Given the description of an element on the screen output the (x, y) to click on. 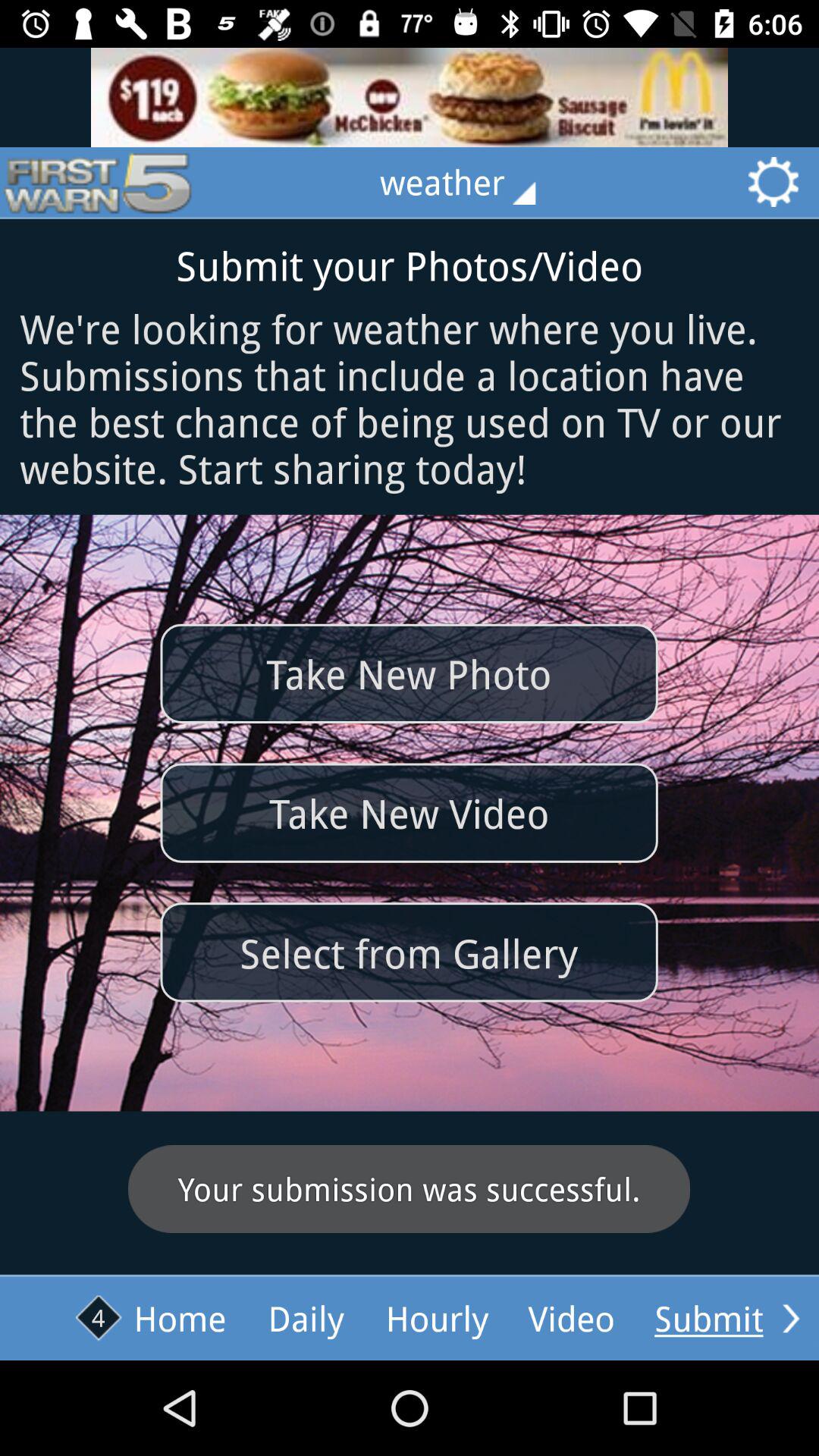
submit yours photos/video (791, 1318)
